Given the description of an element on the screen output the (x, y) to click on. 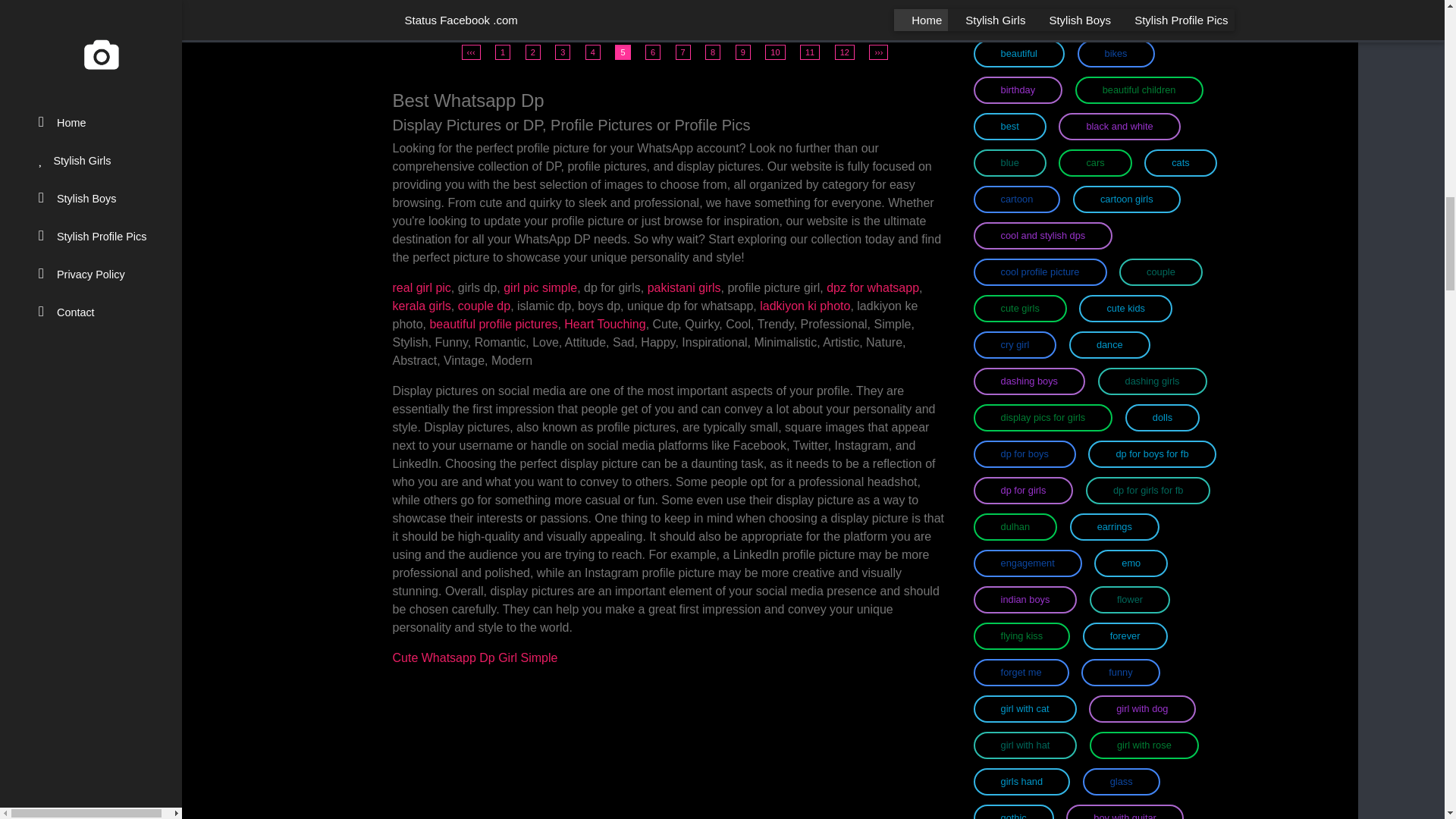
download cover photo (432, 18)
